Given the description of an element on the screen output the (x, y) to click on. 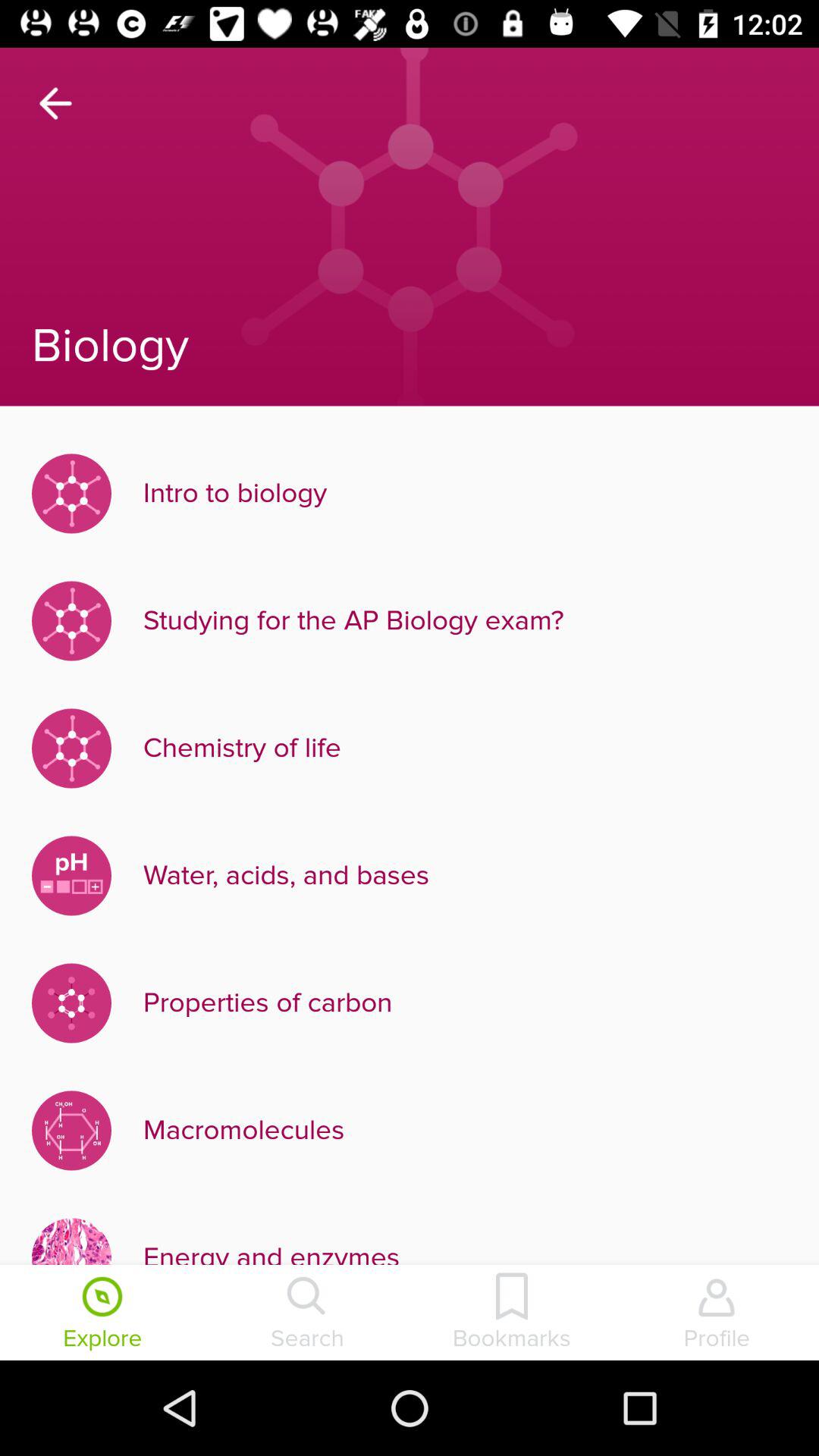
launch profile icon (716, 1314)
